Given the description of an element on the screen output the (x, y) to click on. 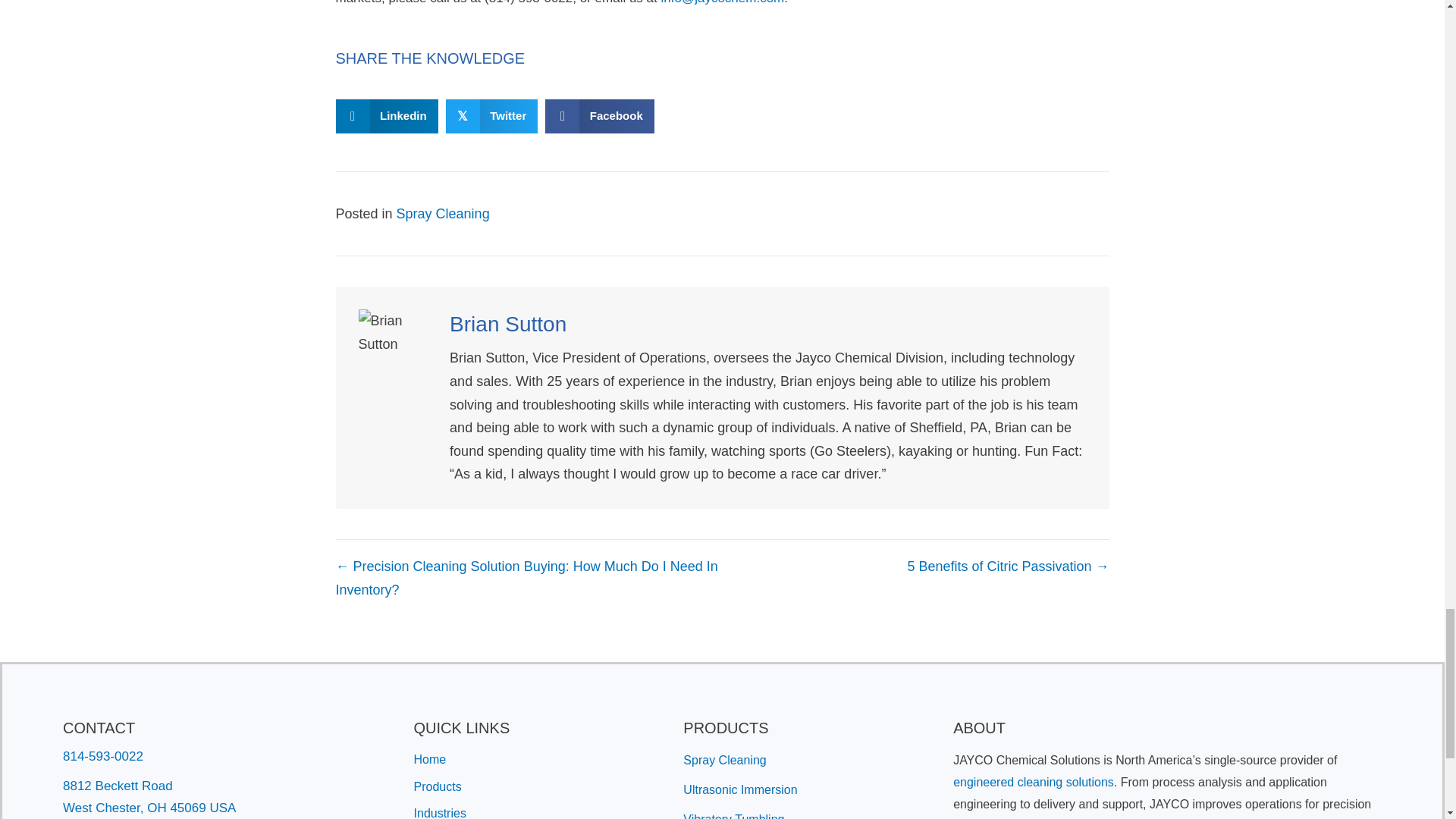
Home (429, 758)
Linkedin (386, 116)
Spray Cleaning (442, 213)
Facebook (598, 116)
8812 Beckett Road (117, 785)
814-593-0022 (102, 756)
West Chester, OH 45069 USA (148, 807)
Products (437, 786)
